Given the description of an element on the screen output the (x, y) to click on. 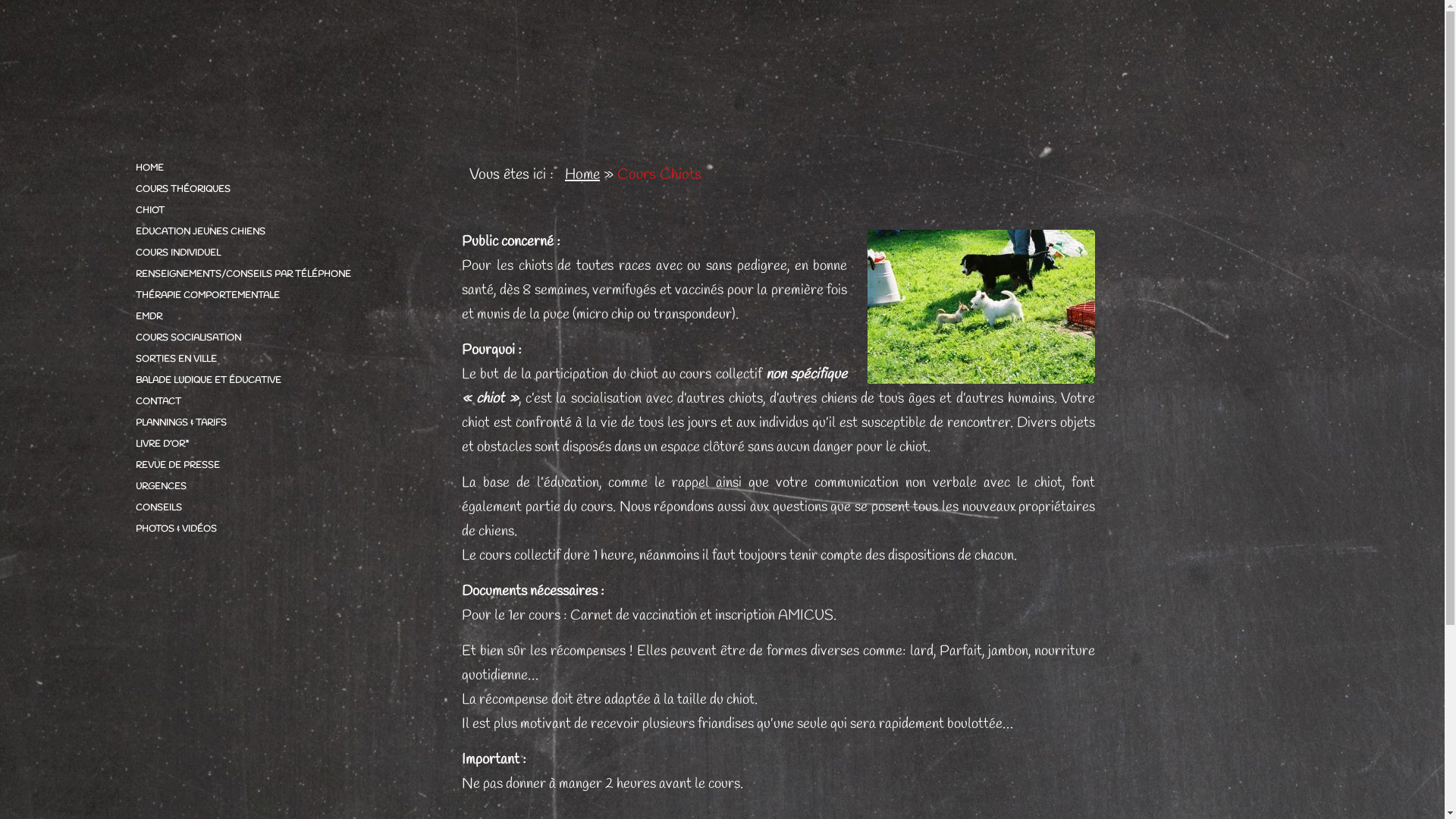
CONSEILS Element type: text (272, 507)
SORTIES EN VILLE Element type: text (272, 359)
CHIOT Element type: text (272, 210)
PLANNINGS & TARIFS Element type: text (272, 422)
REVUE DE PRESSE Element type: text (272, 465)
Home Element type: text (581, 174)
EMDR Element type: text (272, 316)
EDUCATION JEUNES CHIENS Element type: text (272, 231)
COURS INDIVIDUEL Element type: text (272, 252)
CONTACT Element type: text (272, 401)
COURS SOCIALISATION Element type: text (272, 337)
HOME Element type: text (272, 167)
URGENCES Element type: text (272, 486)
